Given the description of an element on the screen output the (x, y) to click on. 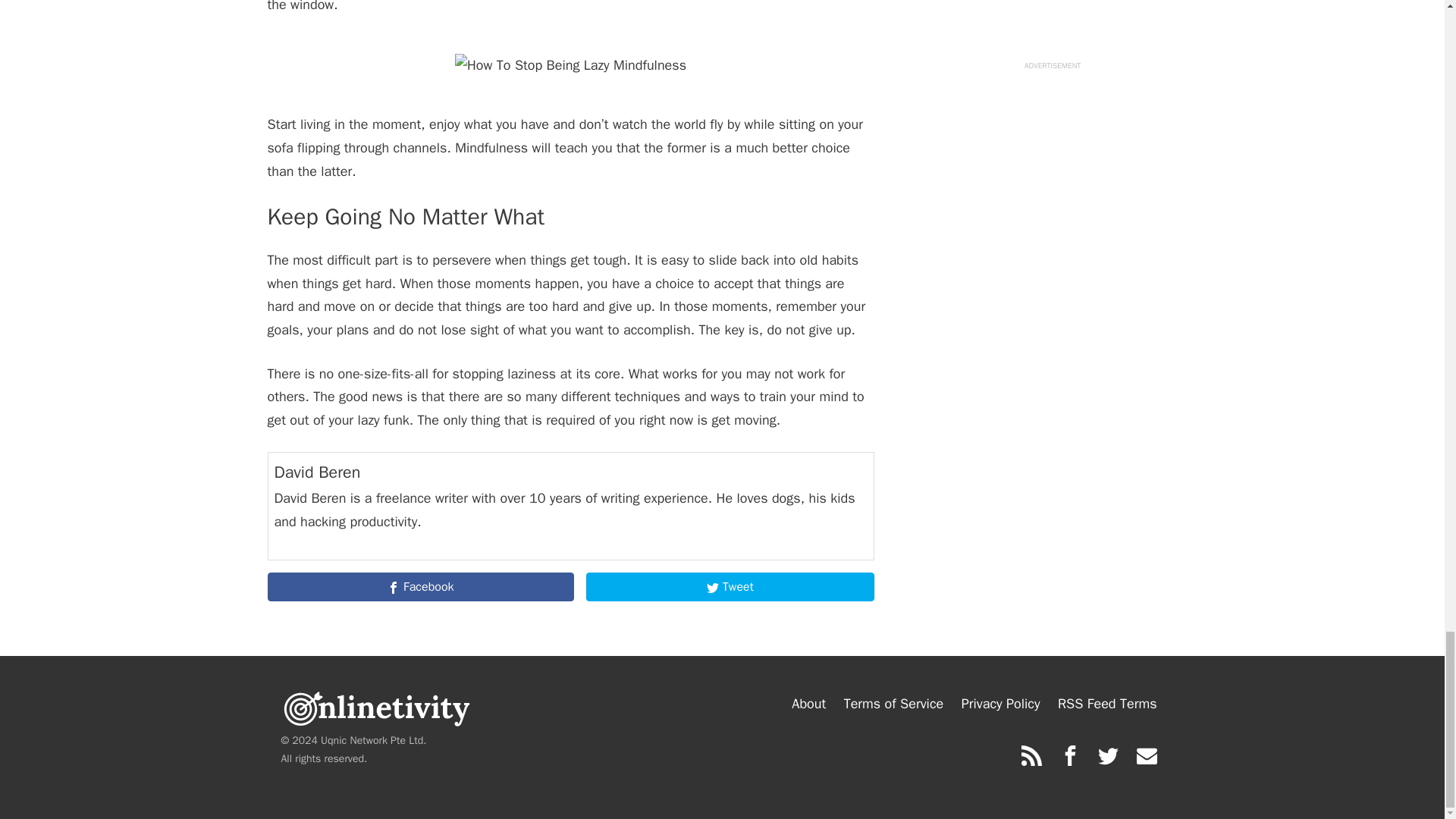
Tweet (729, 586)
Terms of Service (893, 703)
Privacy Policy (1000, 703)
Facebook (419, 586)
About (808, 703)
RSS Feed Terms (1107, 703)
